Given the description of an element on the screen output the (x, y) to click on. 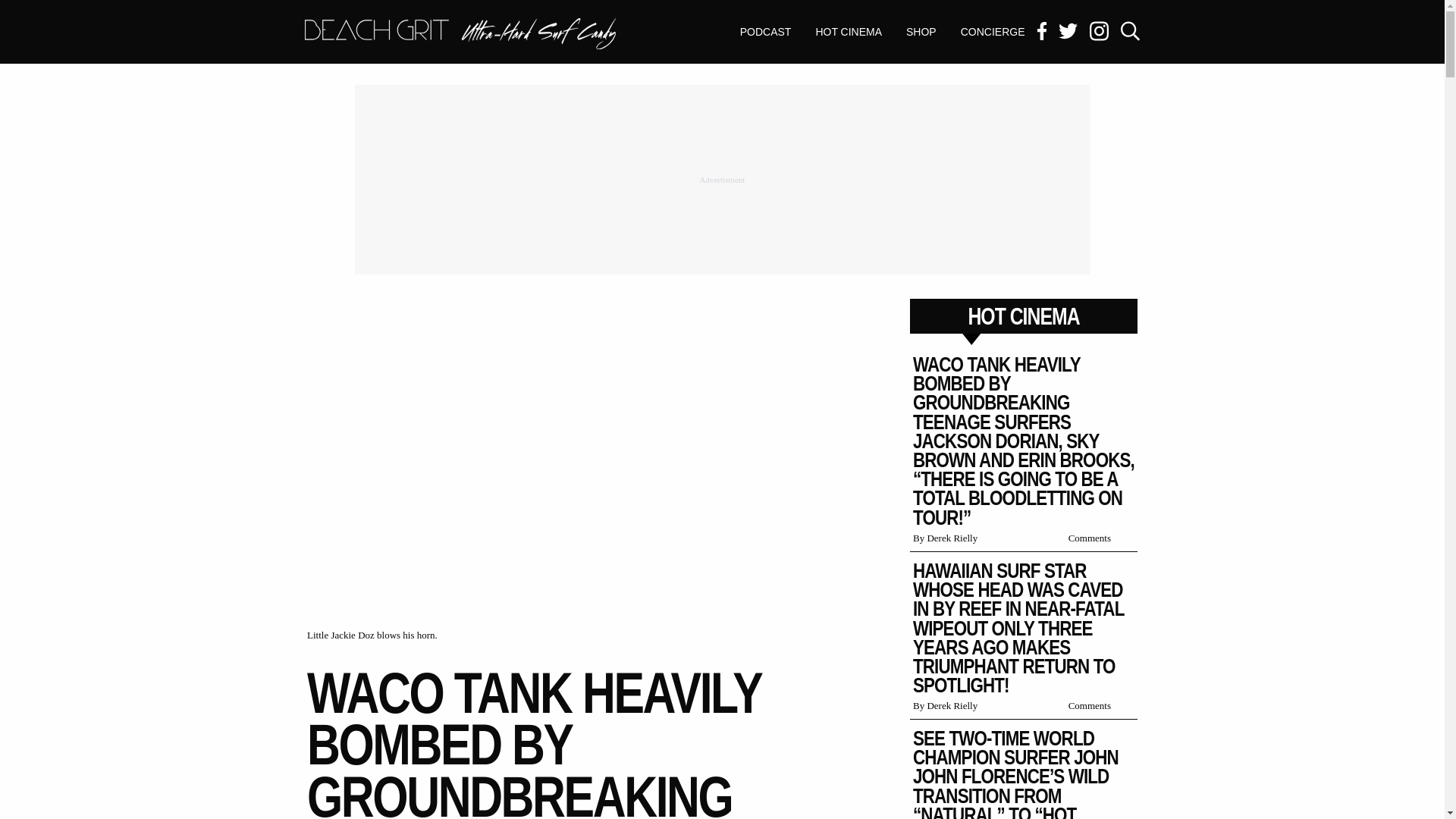
HOT CINEMA (848, 31)
CONCIERGE (992, 31)
PODCAST (765, 31)
SHOP (459, 34)
BG-LOGO (921, 31)
